Given the description of an element on the screen output the (x, y) to click on. 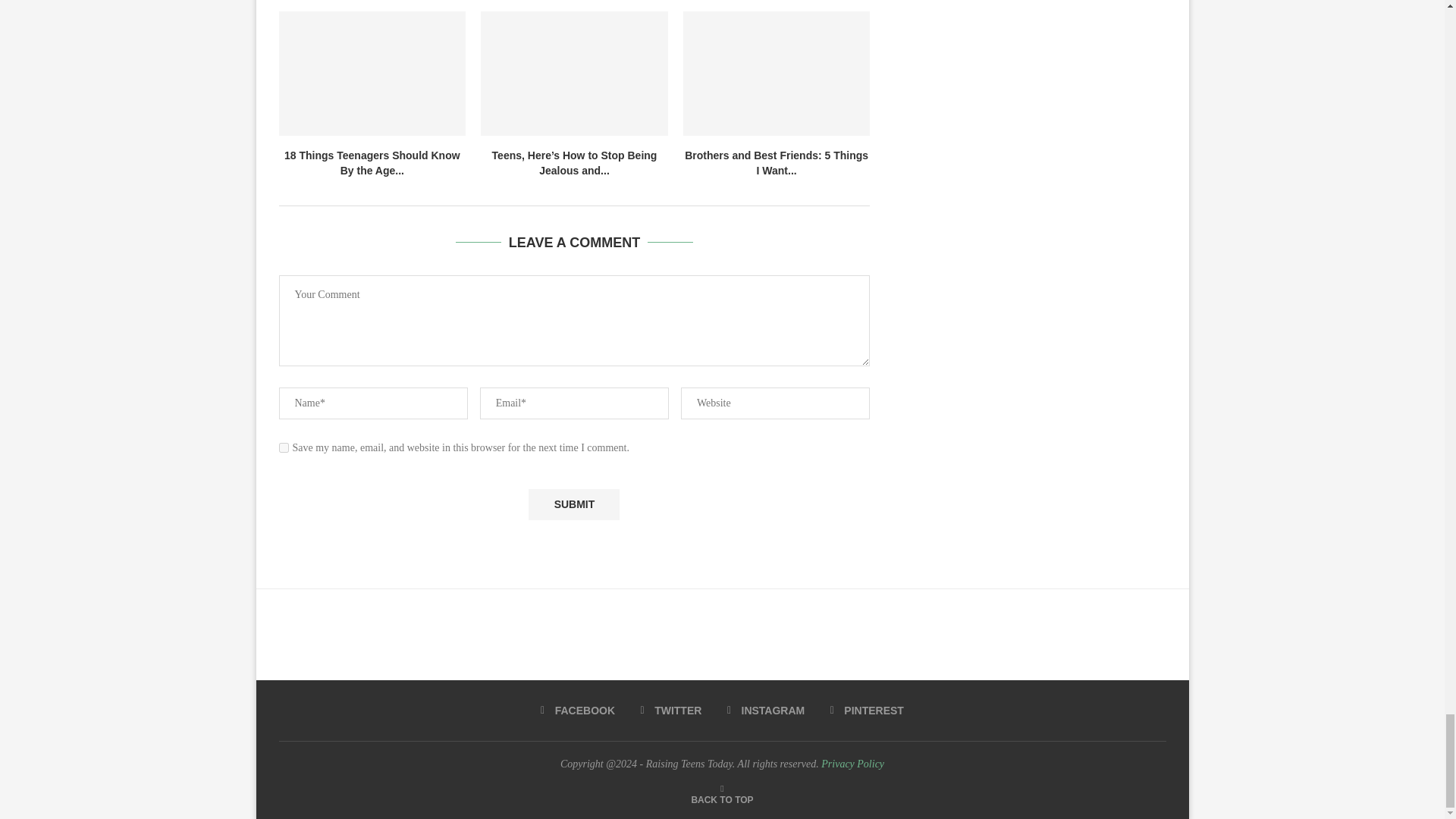
18 Things Teenagers Should Know By the Age of 18 (372, 73)
Submit (574, 504)
yes (283, 447)
